Given the description of an element on the screen output the (x, y) to click on. 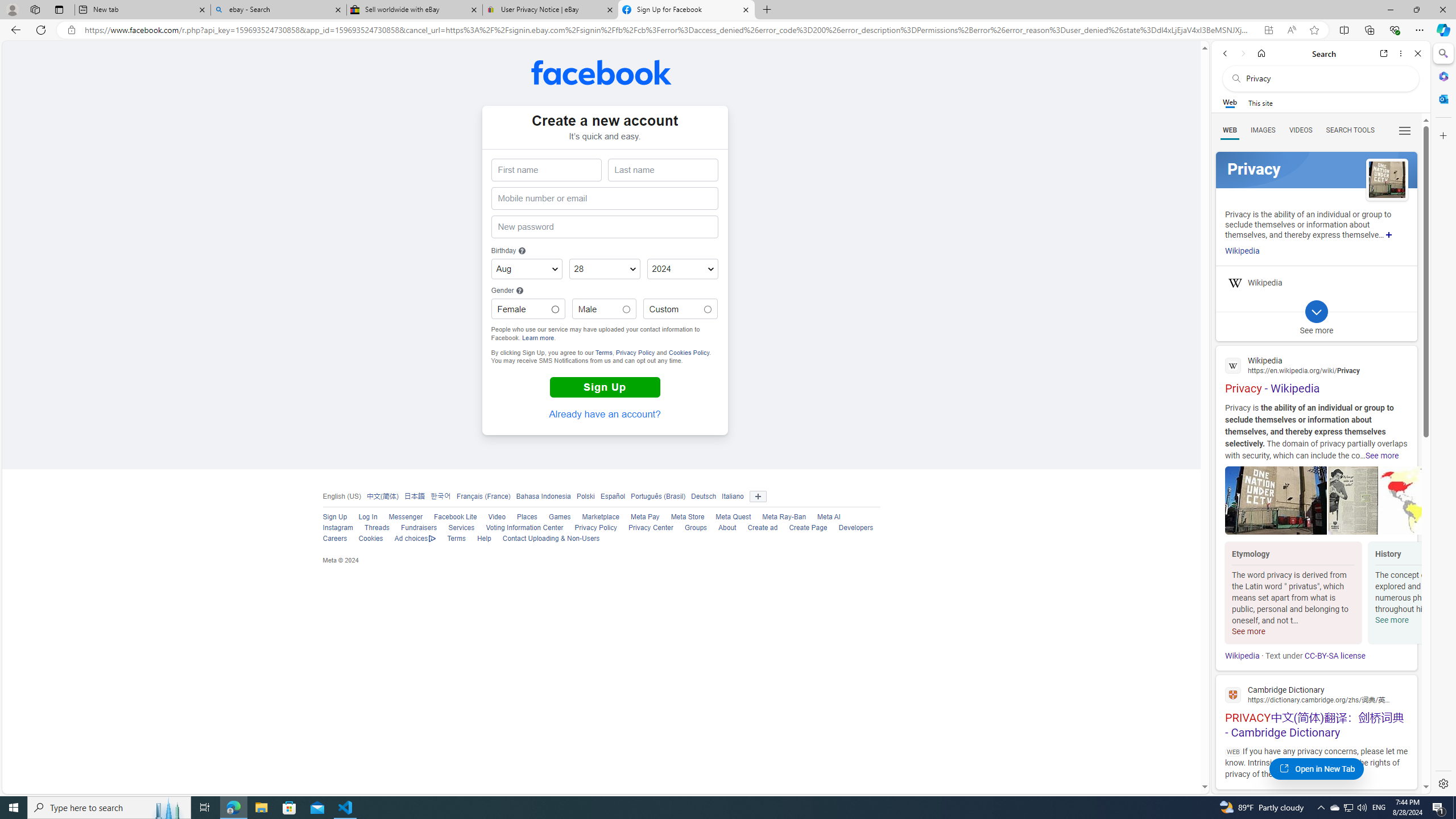
Web scope (1230, 102)
IMAGES (1262, 130)
Day (604, 269)
Cookies (370, 538)
Create Page (802, 527)
Already have an account? (604, 414)
Developers (855, 528)
About (721, 527)
Marketplace (600, 516)
About (726, 528)
Create ad (761, 528)
